Given the description of an element on the screen output the (x, y) to click on. 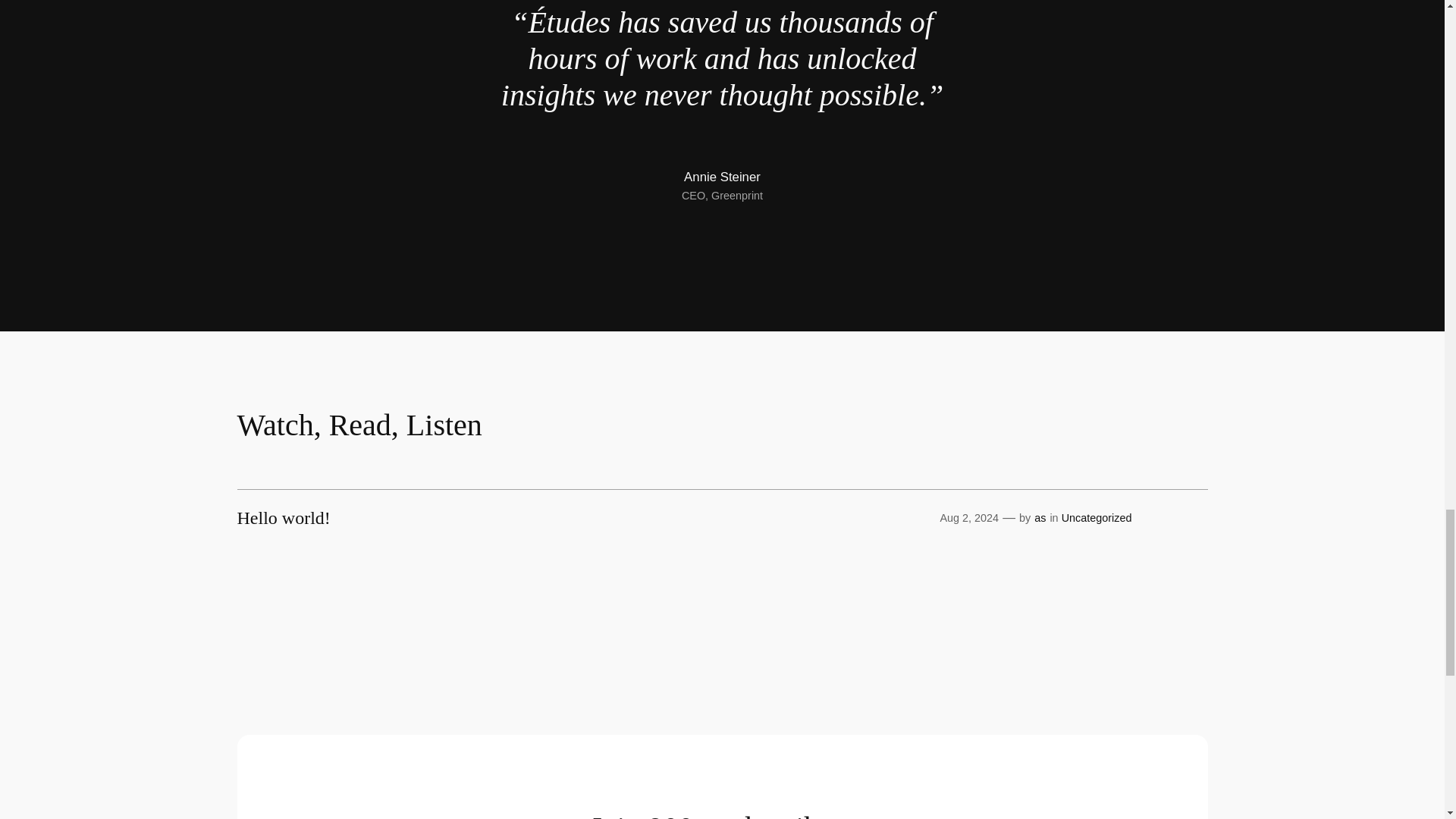
as (1039, 517)
Hello world! (282, 517)
Aug 2, 2024 (968, 517)
Uncategorized (1096, 517)
